Given the description of an element on the screen output the (x, y) to click on. 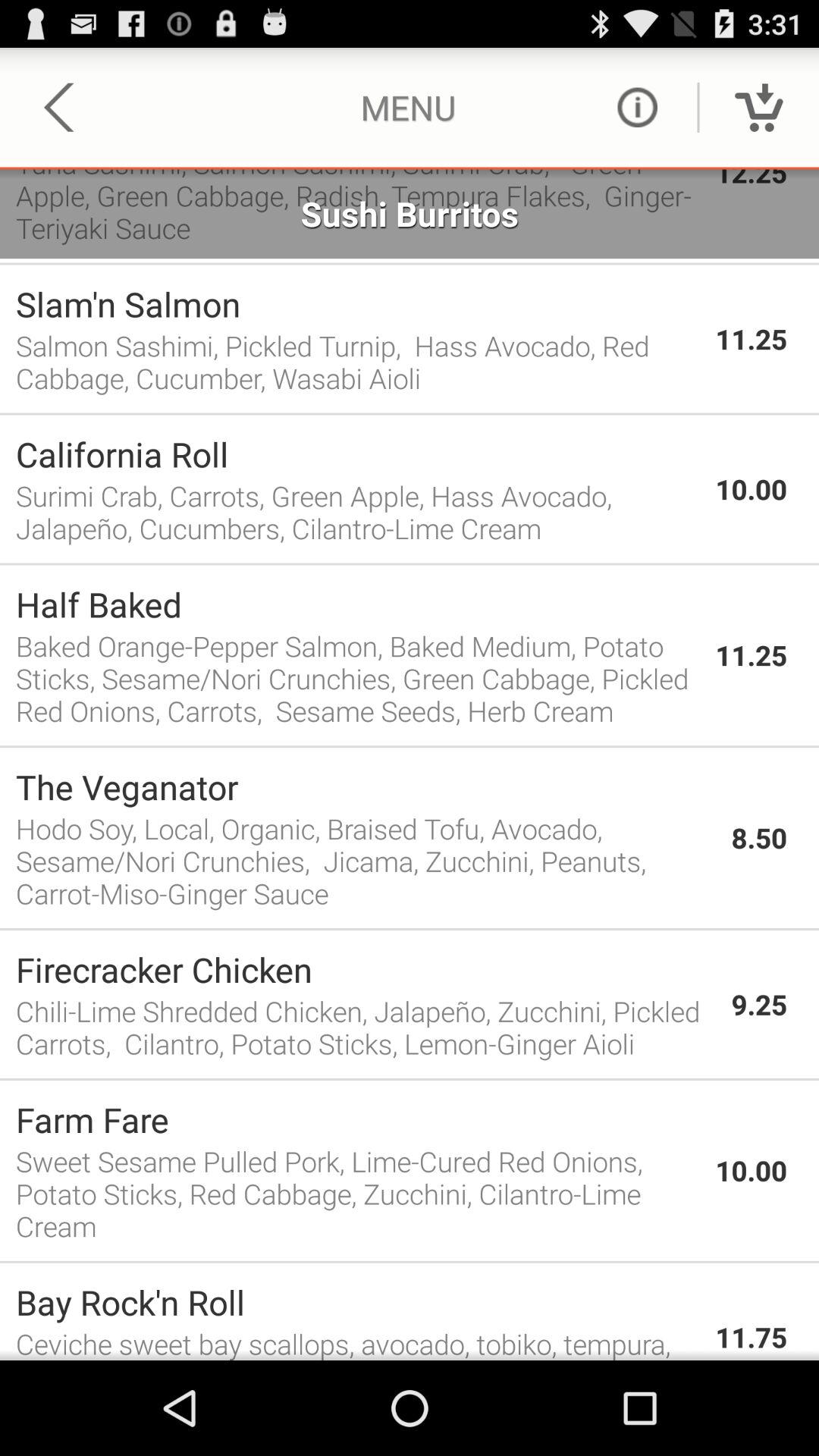
turn on the item to the left of 11.75 icon (357, 1302)
